Given the description of an element on the screen output the (x, y) to click on. 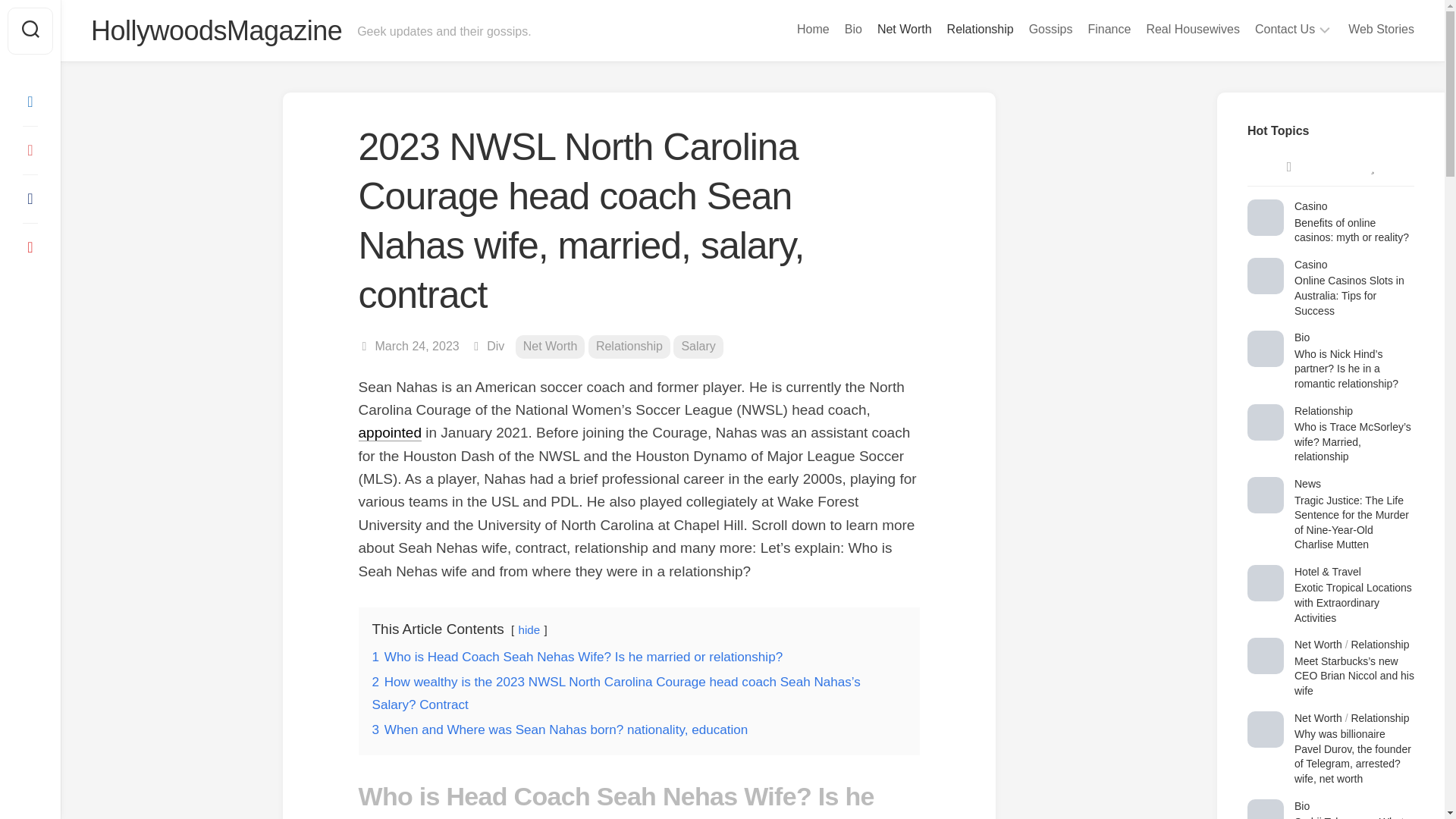
Finance (1109, 29)
Bio (852, 29)
appointed (389, 432)
HollywoodsMagazine (216, 31)
Popular Posts (1371, 166)
Contact Us (1284, 29)
Relationship (980, 29)
Salary (697, 346)
Posts by Div (494, 345)
